Given the description of an element on the screen output the (x, y) to click on. 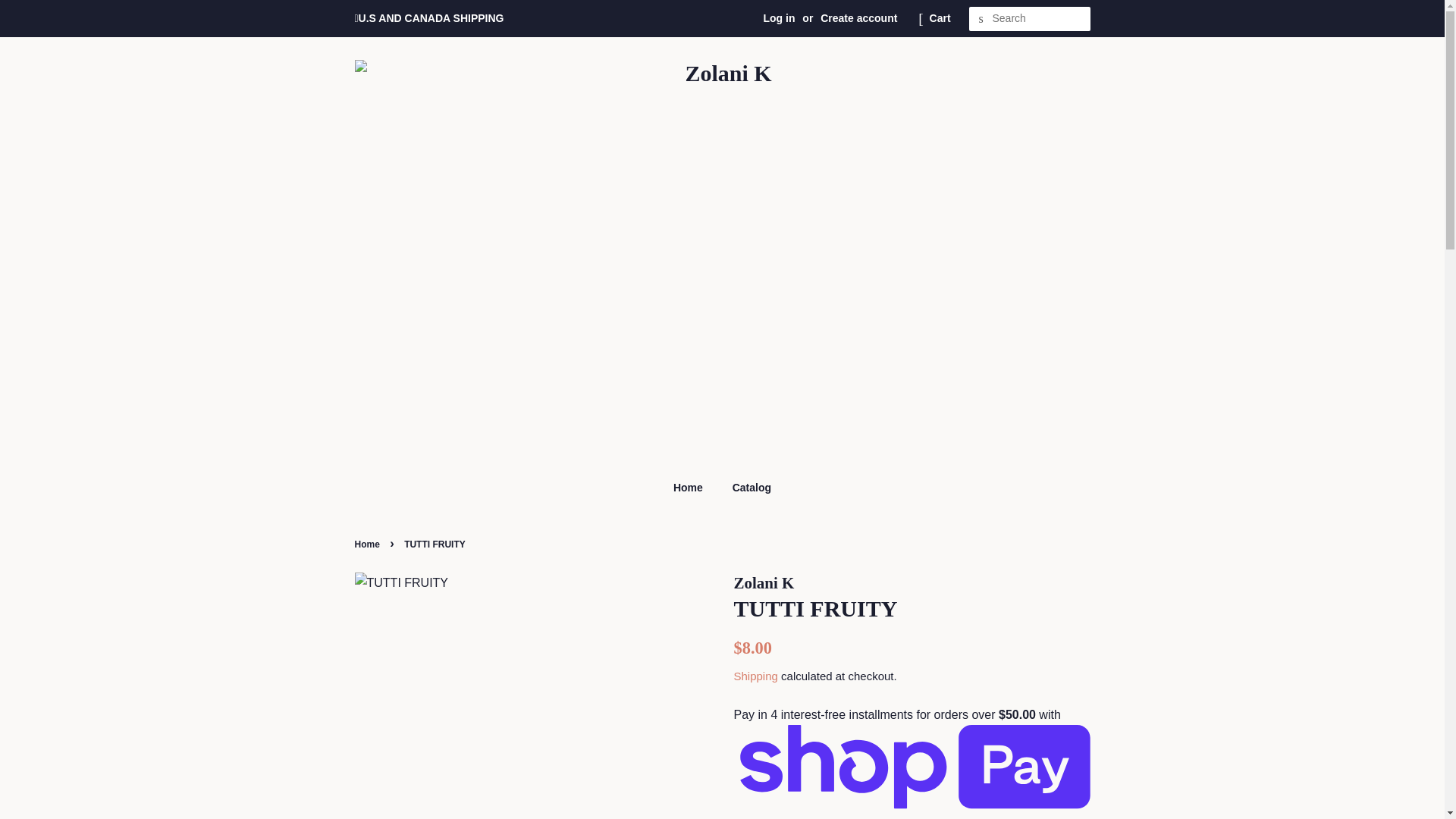
Home (369, 543)
Search (980, 18)
Back to the frontpage (369, 543)
Catalog (745, 488)
Shipping (755, 675)
Home (694, 488)
Log in (778, 18)
Create account (858, 18)
Cart (940, 18)
